Given the description of an element on the screen output the (x, y) to click on. 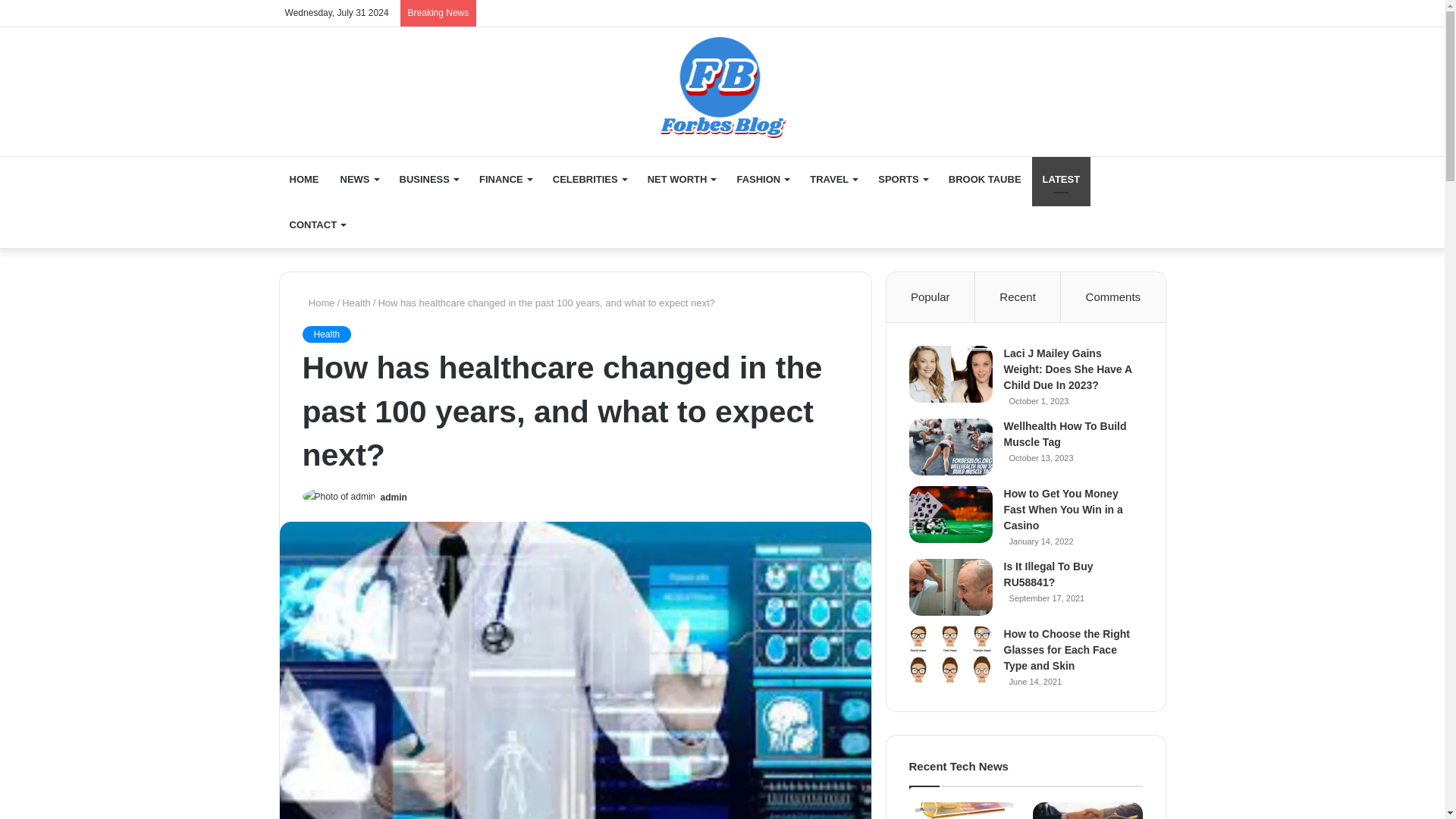
BROOK TAUBE (984, 179)
TRAVEL (833, 179)
Health (356, 302)
admin (393, 497)
CELEBRITIES (589, 179)
Home (317, 302)
FASHION (762, 179)
Home (722, 83)
NEWS (358, 179)
NET WORTH (681, 179)
FINANCE (504, 179)
HOME (304, 179)
admin (393, 497)
CONTACT (317, 225)
LATEST (1061, 179)
